Given the description of an element on the screen output the (x, y) to click on. 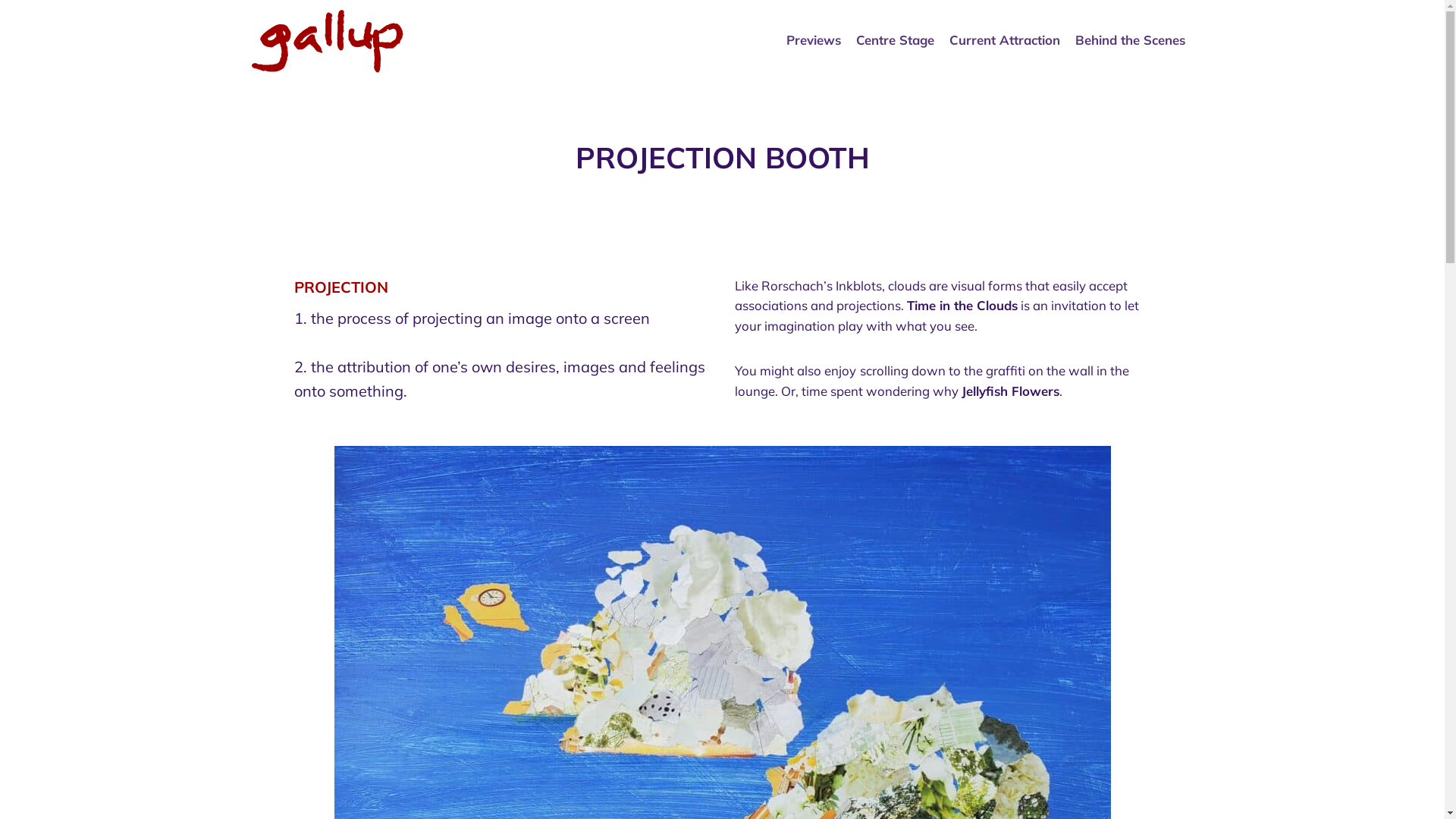
Previews Element type: text (813, 40)
Behind the Scenes Element type: text (1129, 40)
Centre Stage Element type: text (894, 40)
Current Attraction Element type: text (1004, 40)
